Given the description of an element on the screen output the (x, y) to click on. 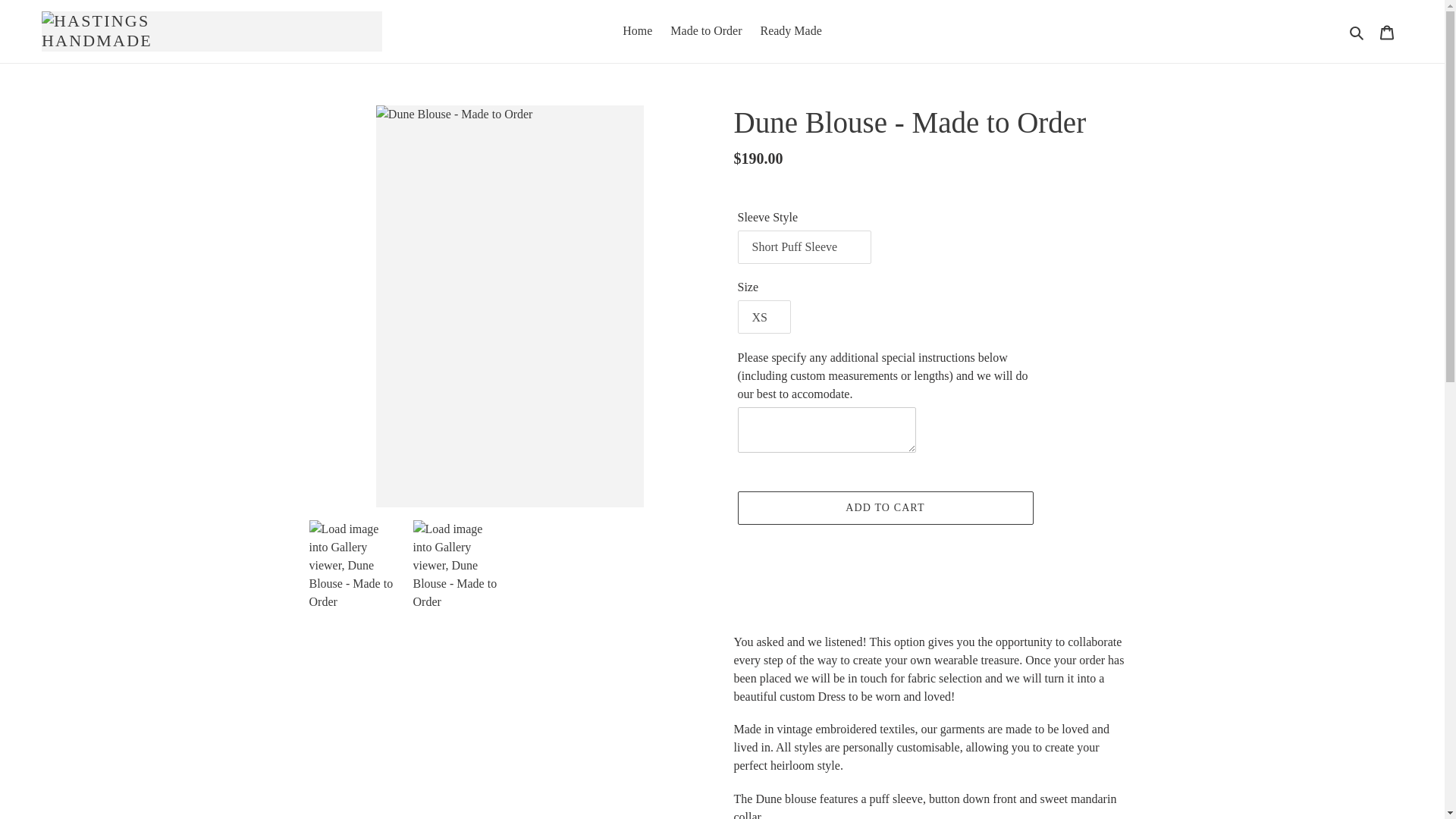
Cart (1387, 30)
Home (636, 30)
Ready Made (790, 30)
Made to Order (705, 30)
ADD TO CART (884, 507)
Search (1357, 30)
